Given the description of an element on the screen output the (x, y) to click on. 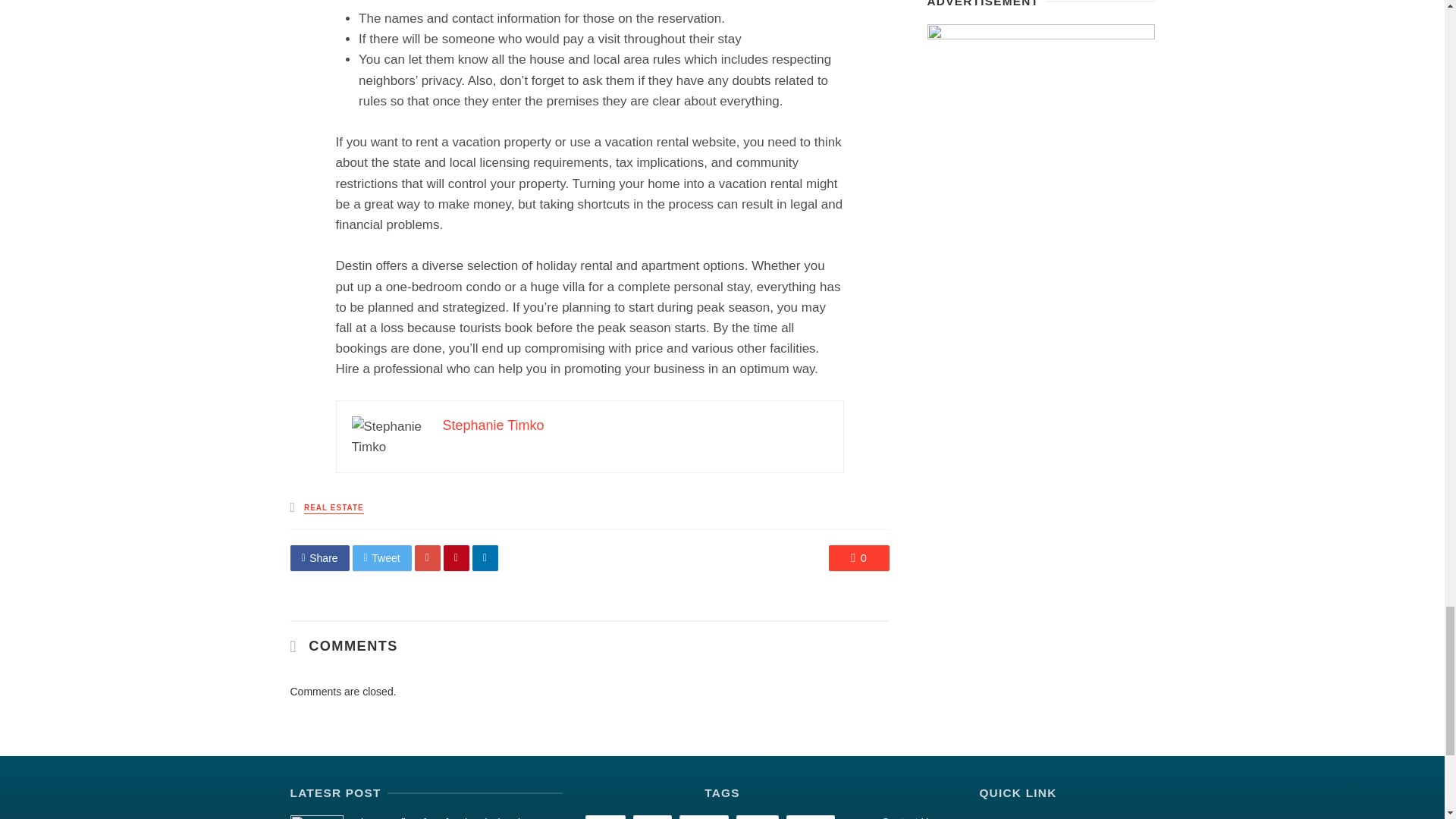
Share on Linkedin (484, 557)
Tweet (382, 557)
REAL ESTATE (334, 508)
Share on Facebook (319, 557)
0 (858, 557)
Share (319, 557)
Stephanie Timko (493, 425)
Share on Pinterest (456, 557)
Share on Twitter (382, 557)
0 Comments (858, 557)
